Given the description of an element on the screen output the (x, y) to click on. 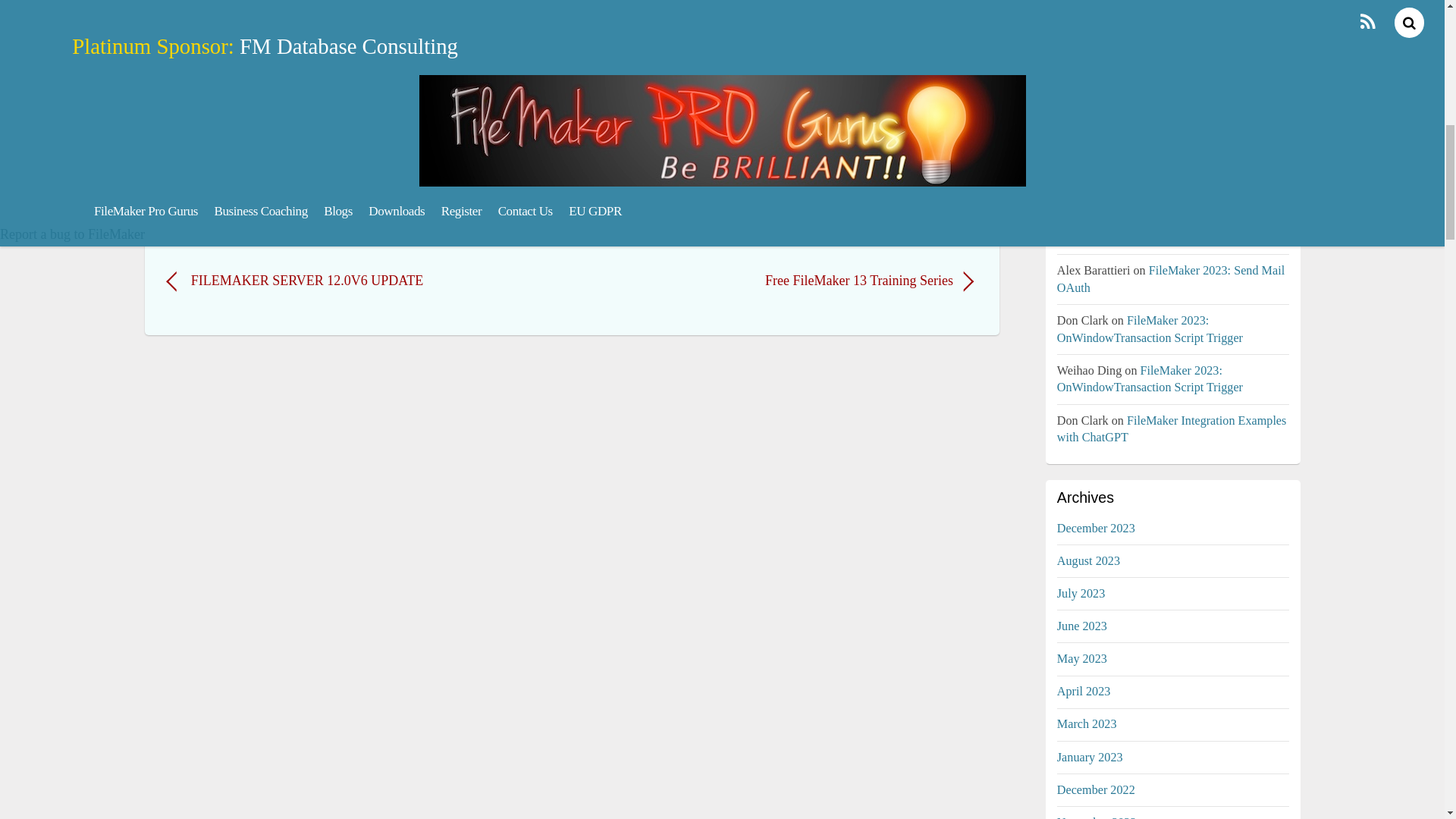
FileMaker 2023: Send Mail OAuth (1160, 228)
FileMaker 2023: OnWindowTransaction Script Trigger (1172, 2)
Pinterest (261, 140)
LinkedIn (302, 140)
Twitter (186, 140)
Contact FM Pro Gurus for help (287, 219)
